Given the description of an element on the screen output the (x, y) to click on. 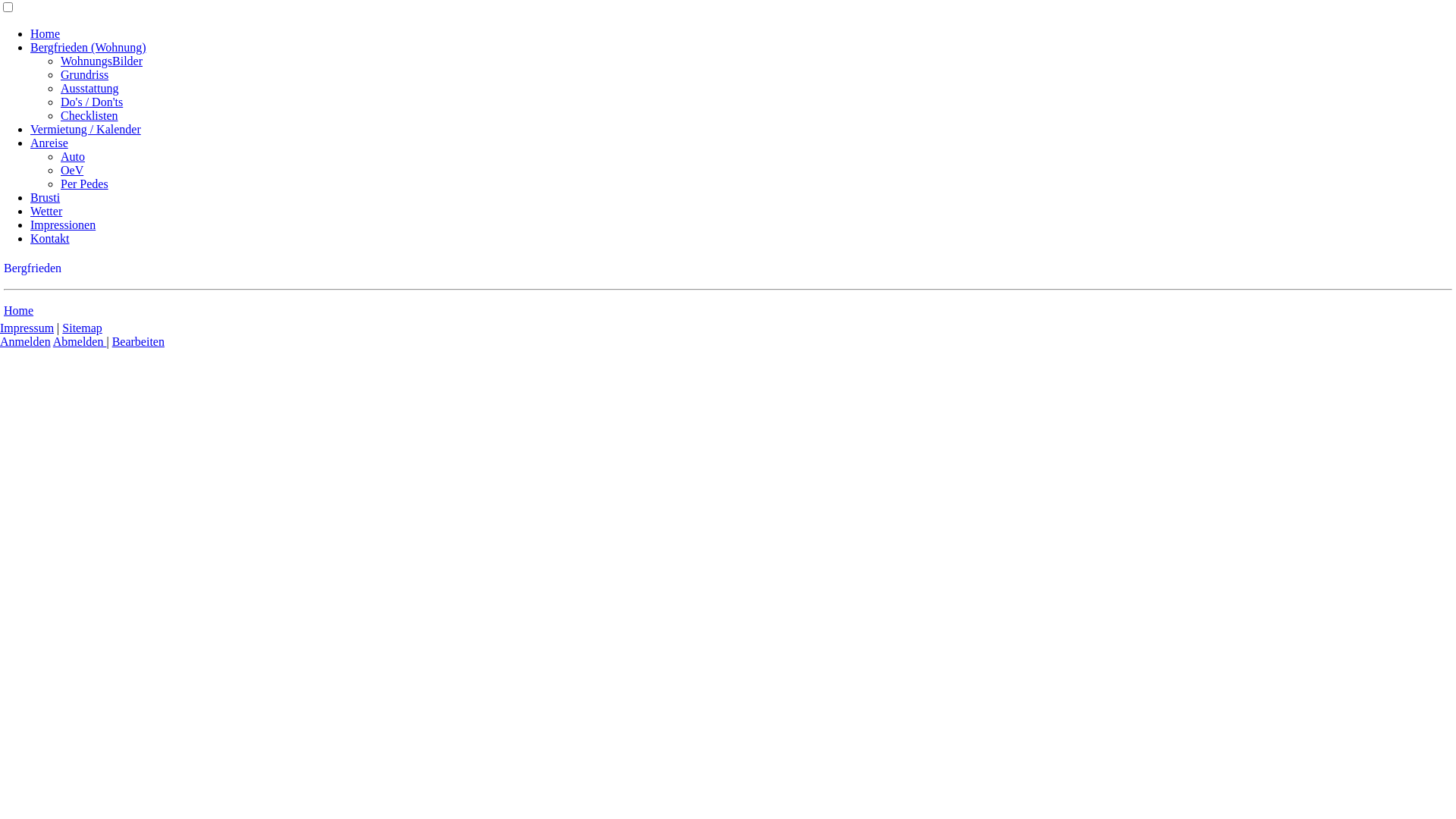
Impressum Element type: text (26, 327)
Home Element type: text (44, 33)
Anmelden Element type: text (25, 341)
Brusti Element type: text (44, 197)
Home Element type: text (18, 310)
Vermietung / Kalender Element type: text (85, 128)
Bergfrieden Element type: text (32, 267)
Sitemap Element type: text (81, 327)
Abmelden Element type: text (79, 341)
Grundriss Element type: text (84, 74)
OeV Element type: text (71, 169)
Auto Element type: text (72, 156)
Ausstattung Element type: text (89, 87)
Bearbeiten Element type: text (138, 341)
Bergfrieden (Wohnung) Element type: text (88, 46)
WohnungsBilder Element type: text (101, 60)
Anreise Element type: text (49, 142)
Wetter Element type: text (46, 210)
Do's / Don'ts Element type: text (91, 101)
Impressionen Element type: text (62, 224)
Kontakt Element type: text (49, 238)
Per Pedes Element type: text (84, 183)
Checklisten Element type: text (89, 115)
